Given the description of an element on the screen output the (x, y) to click on. 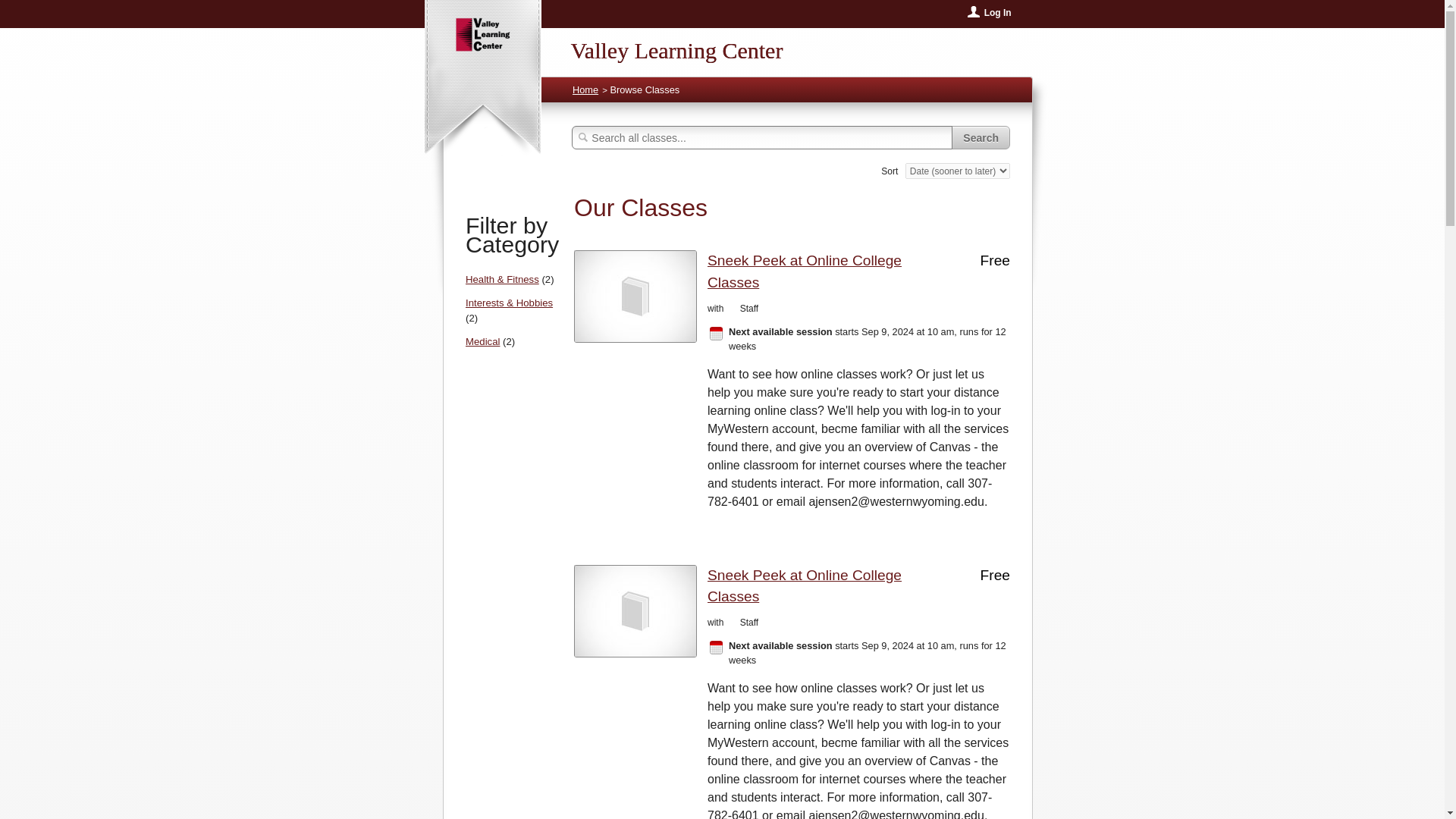
Sneek Peek at Online College Classes (832, 272)
Search (981, 137)
Log In (989, 11)
Valley Learning Center (722, 44)
Sneek Peek at Online College Classes (832, 587)
Home (585, 89)
Medical (482, 341)
Valley Learning Center (722, 44)
